Given the description of an element on the screen output the (x, y) to click on. 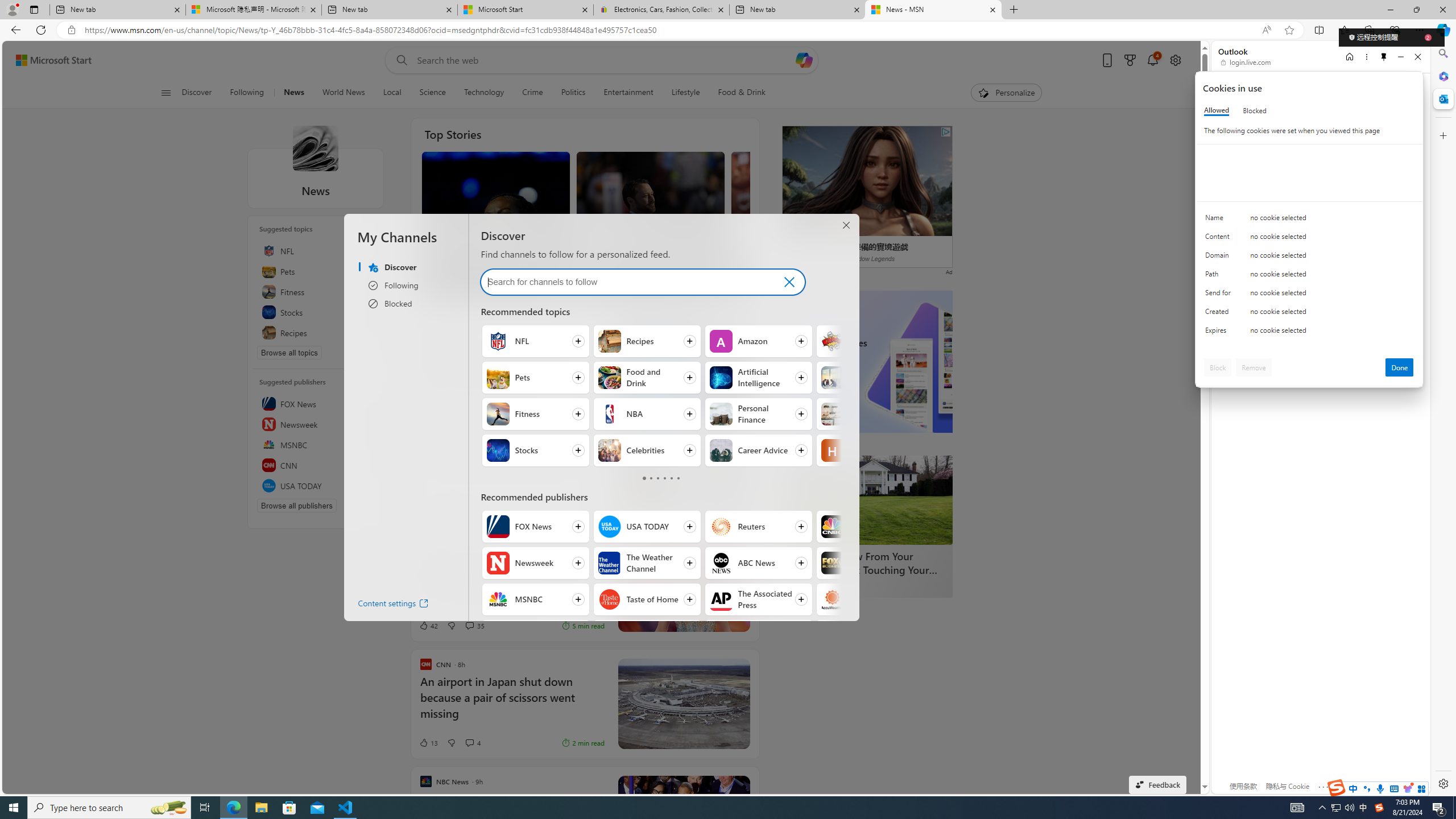
Science (432, 92)
FOX News (497, 526)
Follow NFL (535, 341)
Follow ABC News (758, 563)
Follow this source (367, 486)
Class: c0153 c0157 c0154 (1309, 220)
Follow Healthy Eating (869, 450)
View comments 268 Comment (484, 284)
Follow Pets (535, 377)
Fox Business (832, 563)
Follow AccuWeather (869, 599)
Follow Business Insider (758, 635)
